Given the description of an element on the screen output the (x, y) to click on. 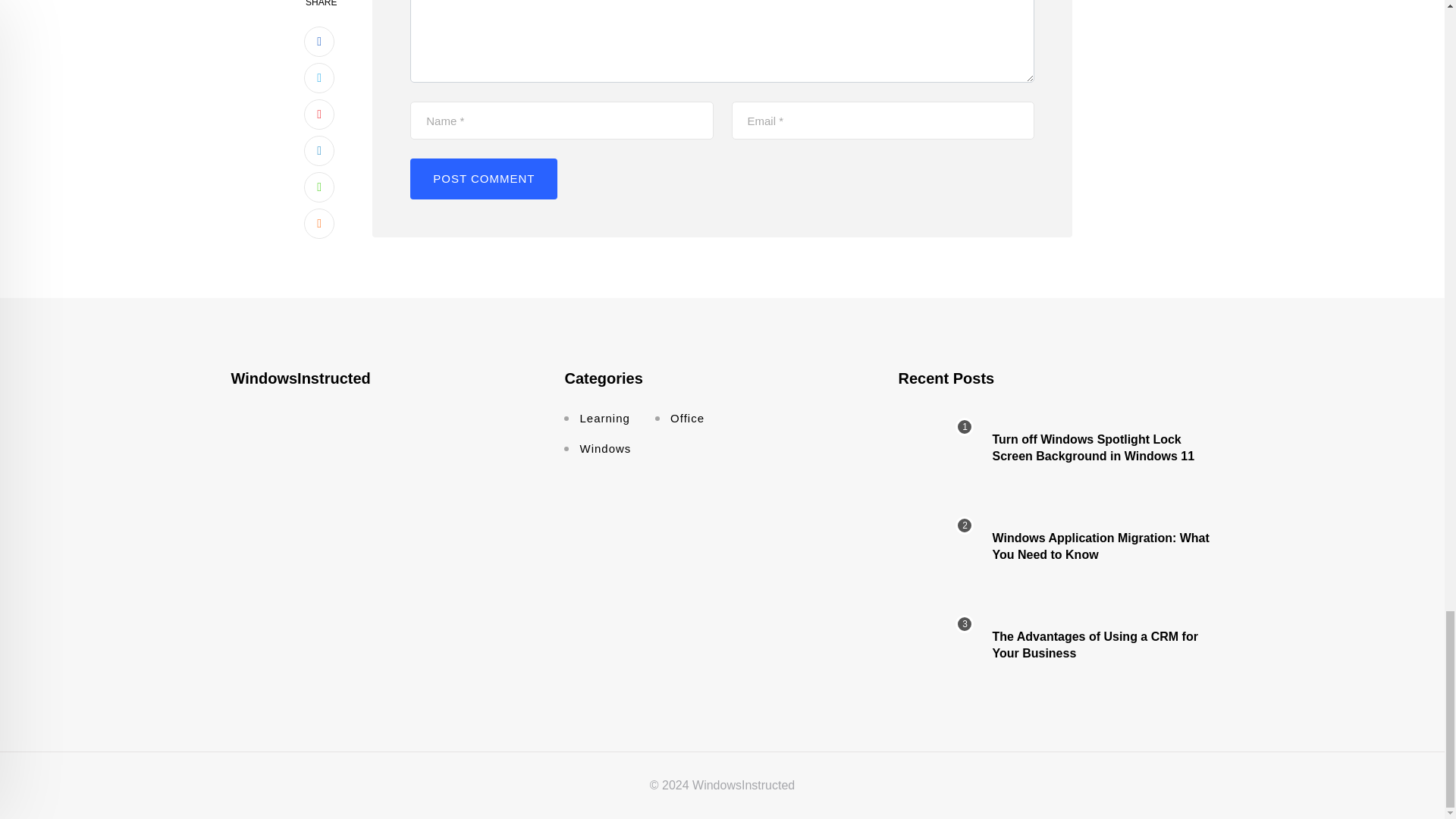
The Advantages of Using a CRM for Your Business (936, 645)
Post Comment (483, 178)
Post Comment (483, 178)
Windows Application Migration: What You Need to Know (936, 546)
